Given the description of an element on the screen output the (x, y) to click on. 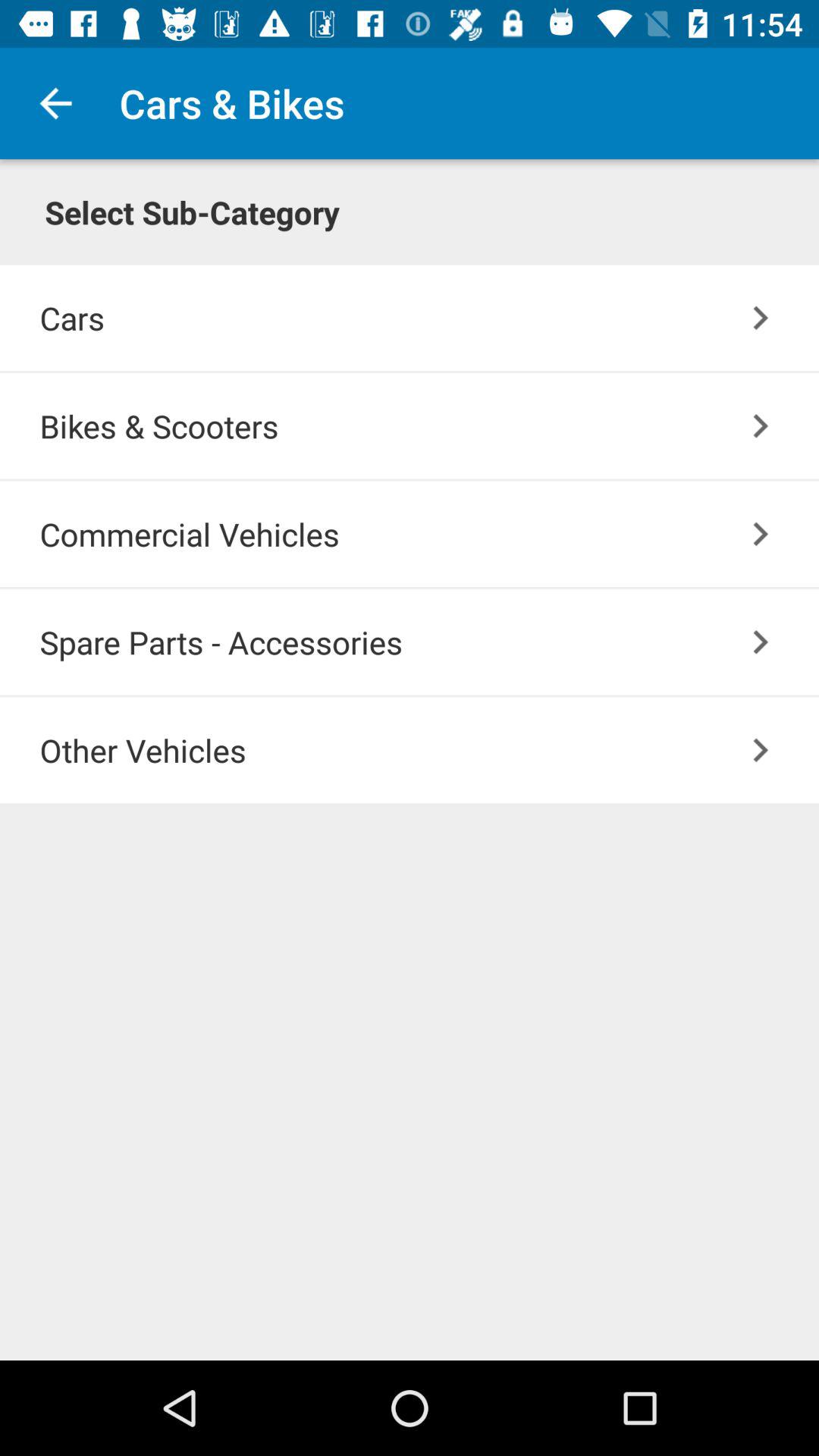
open the item below bikes & scooters icon (429, 533)
